Given the description of an element on the screen output the (x, y) to click on. 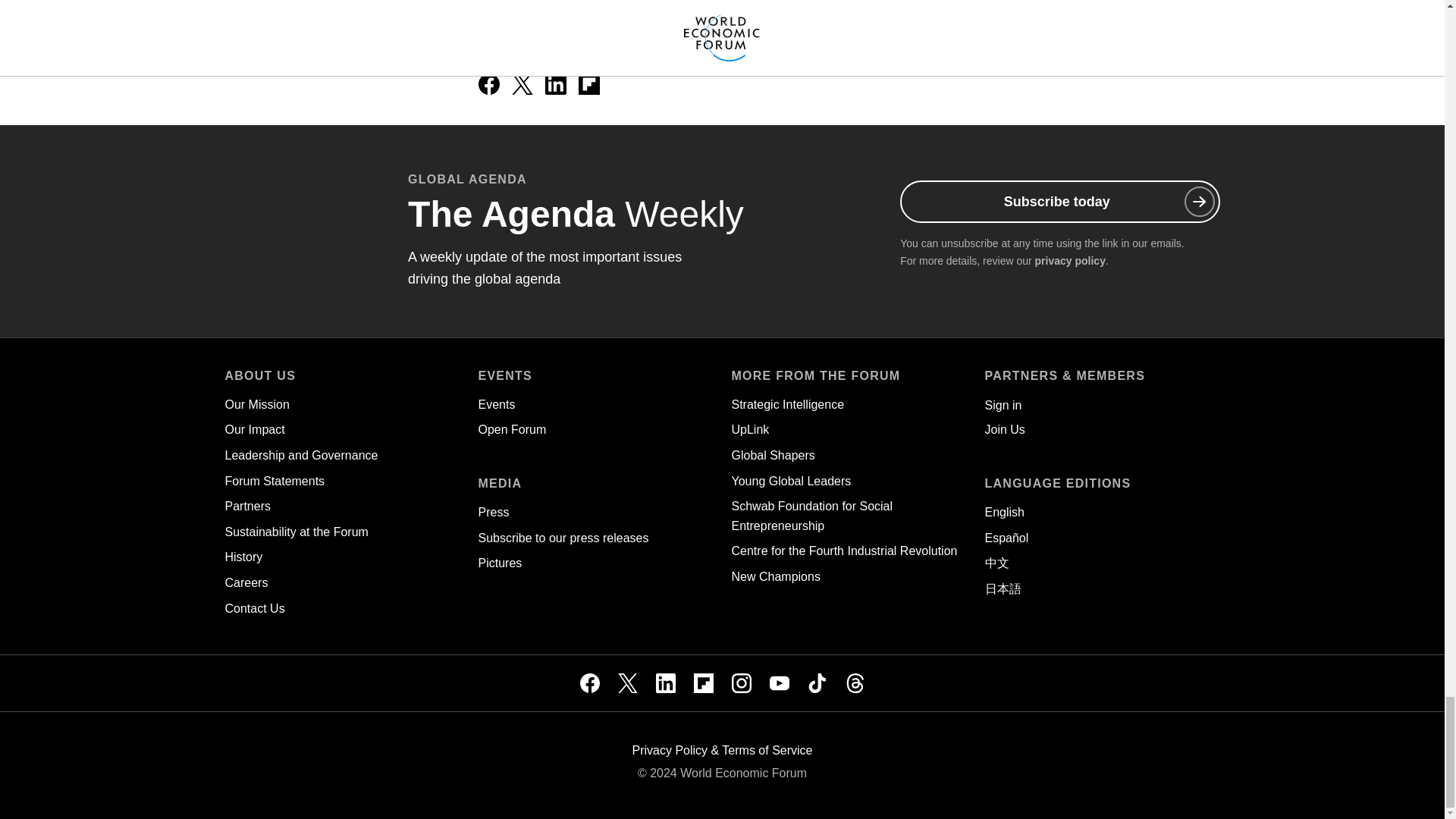
privacy policy (1070, 260)
Our Impact (253, 429)
Leadership and Governance (300, 454)
Our Mission (256, 404)
Forum Statements (274, 481)
Subscribe today (1059, 201)
